Given the description of an element on the screen output the (x, y) to click on. 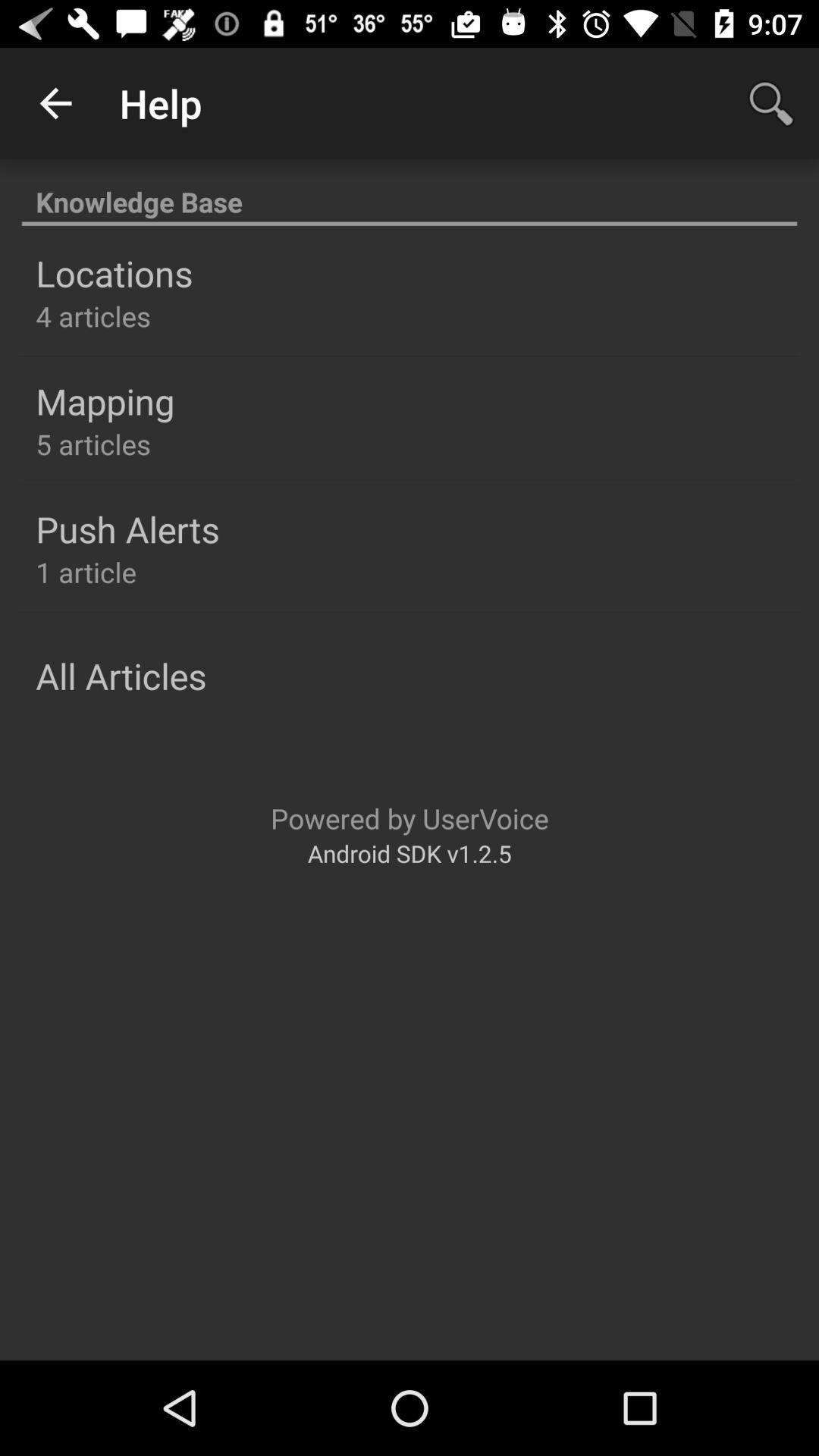
click 1 article item (85, 571)
